Given the description of an element on the screen output the (x, y) to click on. 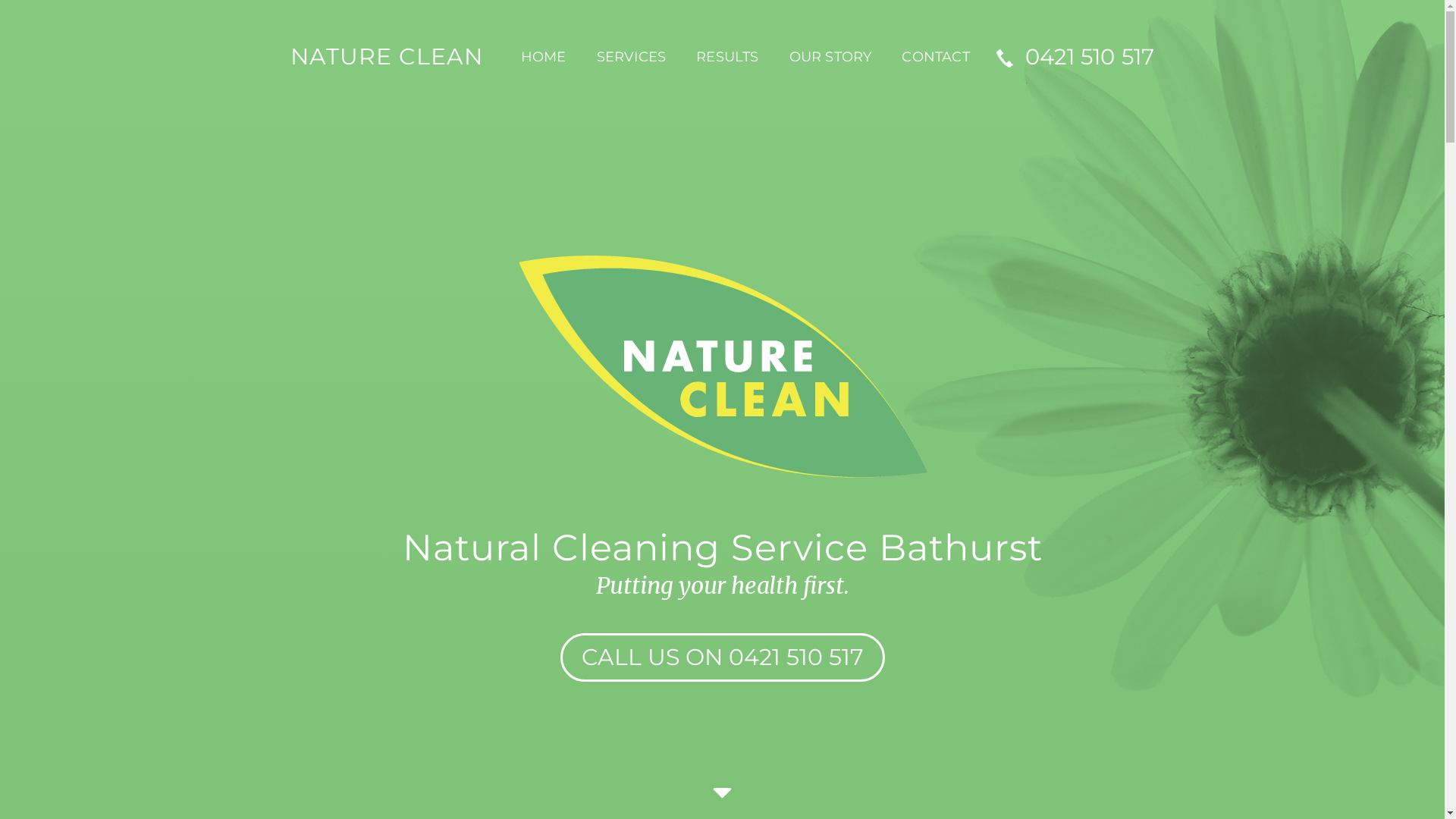
CALL US ON 0421 510 517 Element type: text (721, 657)
RESULTS Element type: text (726, 56)
CONTACT Element type: text (935, 56)
NATURE CLEAN Element type: text (386, 56)
OUR STORY Element type: text (830, 56)
SERVICES Element type: text (631, 56)
0421 510 517 Element type: text (1069, 56)
HOME Element type: text (543, 56)
